Given the description of an element on the screen output the (x, y) to click on. 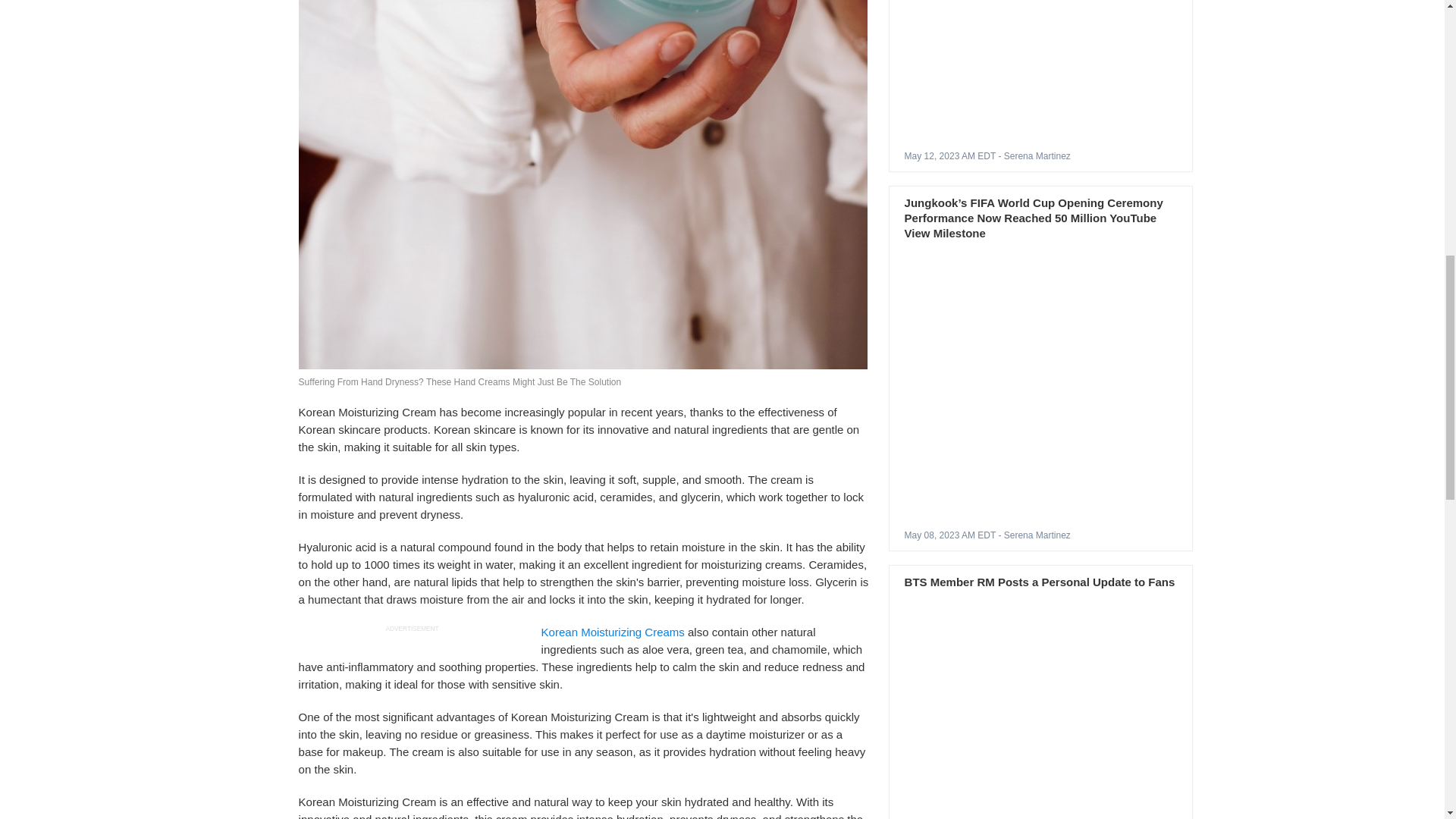
Korean Moisturizing Creams (612, 631)
